Given the description of an element on the screen output the (x, y) to click on. 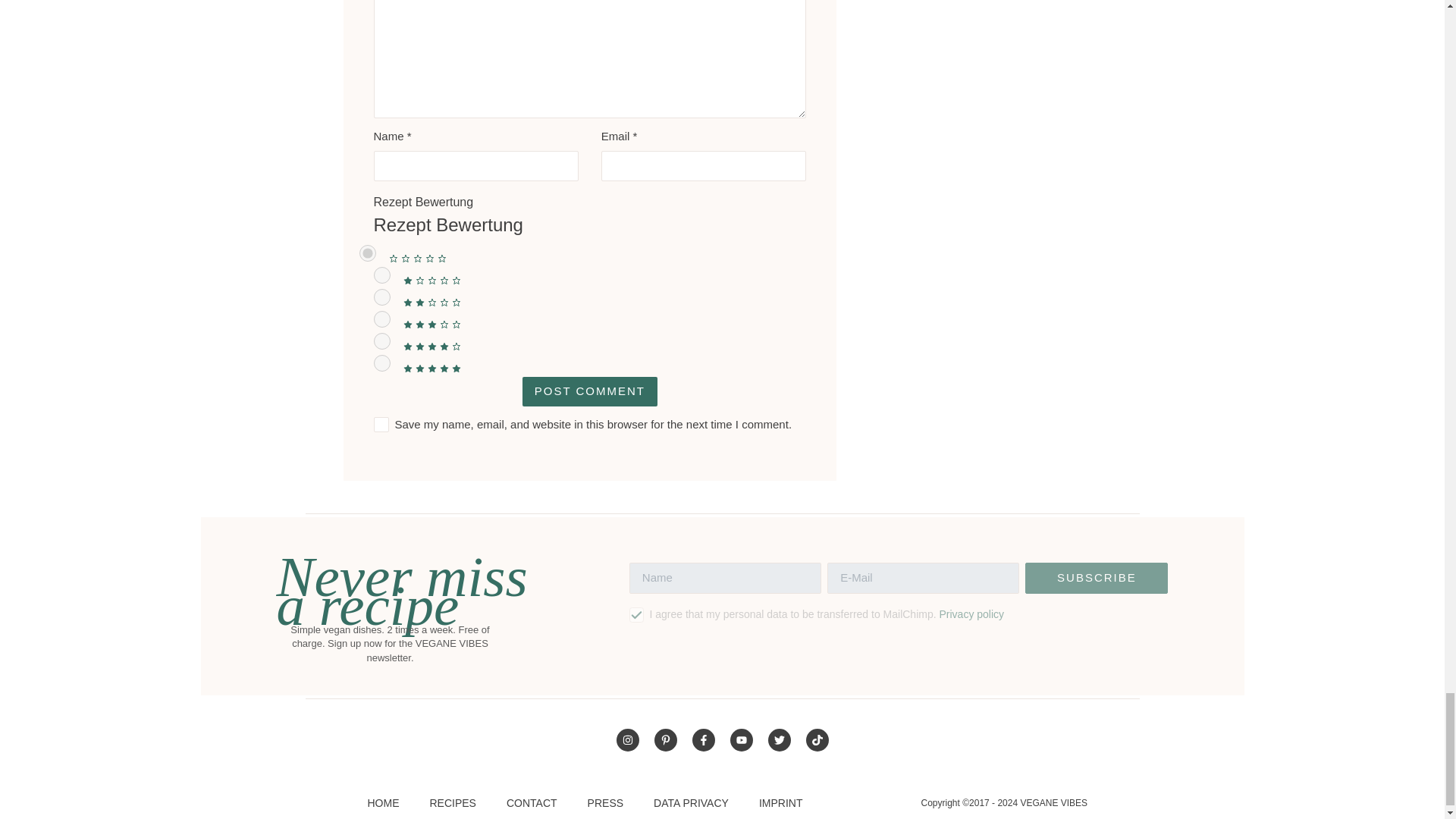
1 (381, 274)
2 (381, 297)
0 (367, 252)
